Given the description of an element on the screen output the (x, y) to click on. 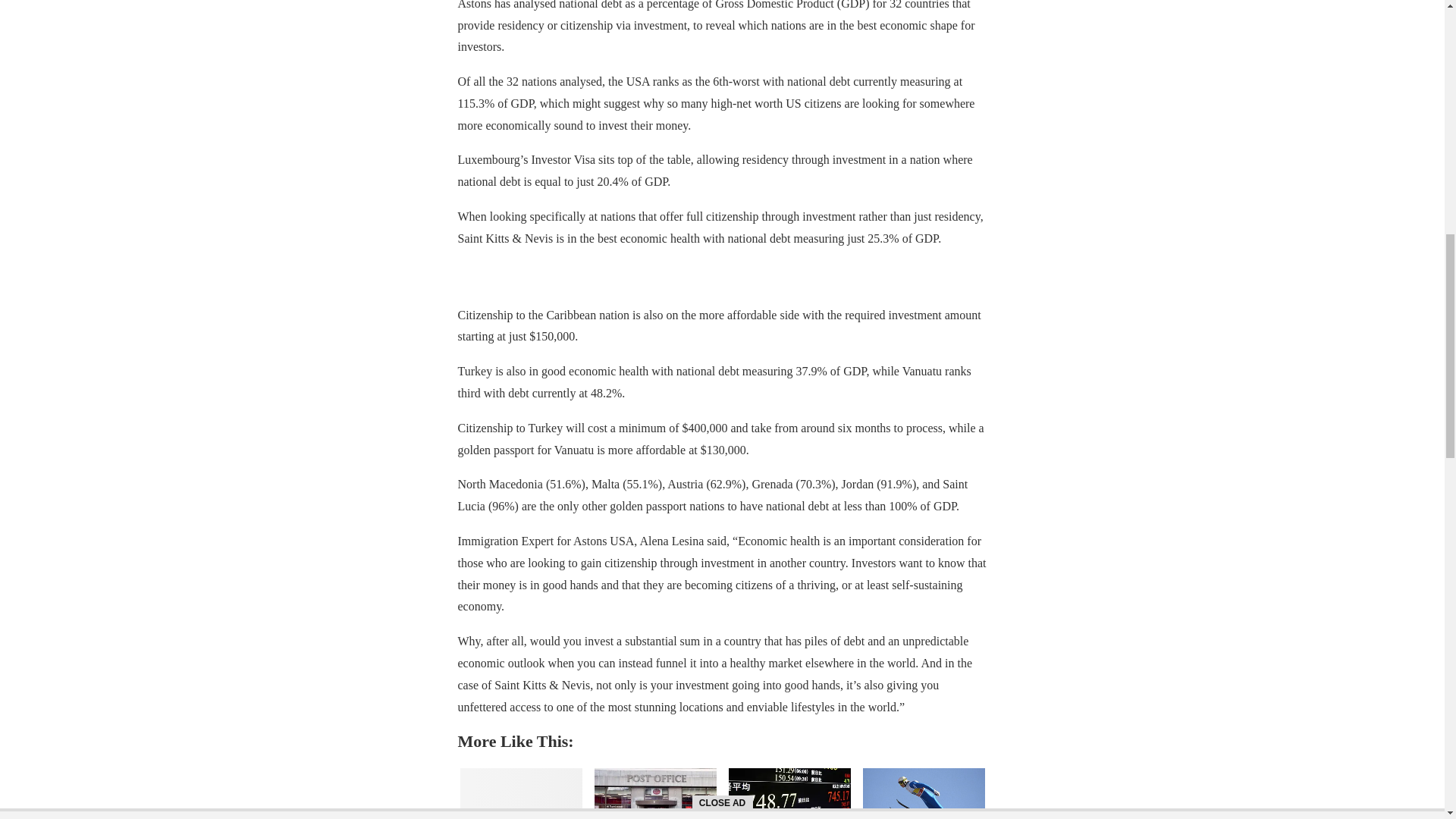
French Alps selected to host the 2030 Winter Olympic games (924, 793)
Frequent risk events highlight CN50's comparative advantage (789, 793)
Wet weather dampens Post Office cash transactions (655, 793)
